Given the description of an element on the screen output the (x, y) to click on. 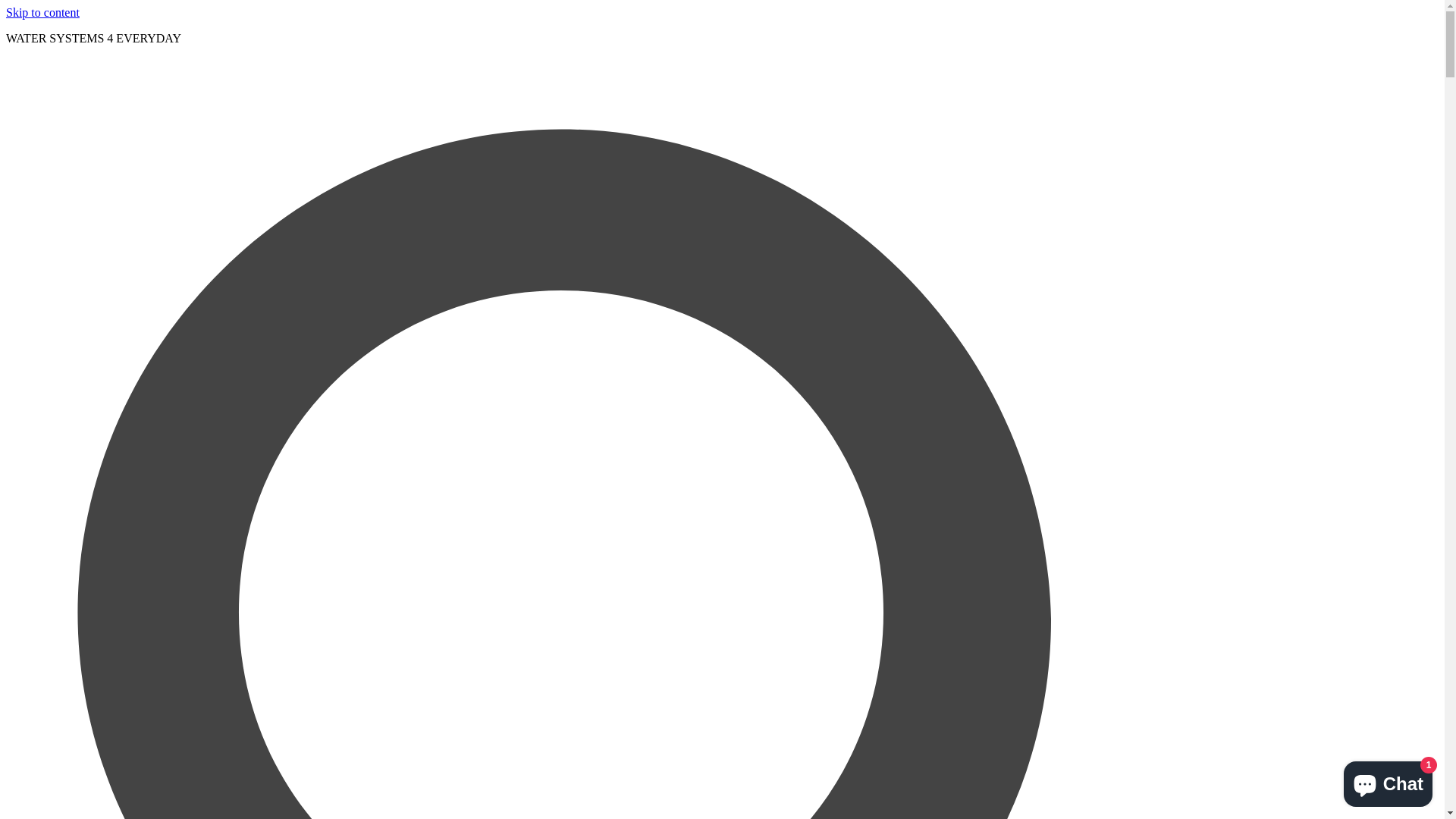
Skip to content Element type: text (42, 12)
Shopify online store chat Element type: hover (1388, 780)
